Given the description of an element on the screen output the (x, y) to click on. 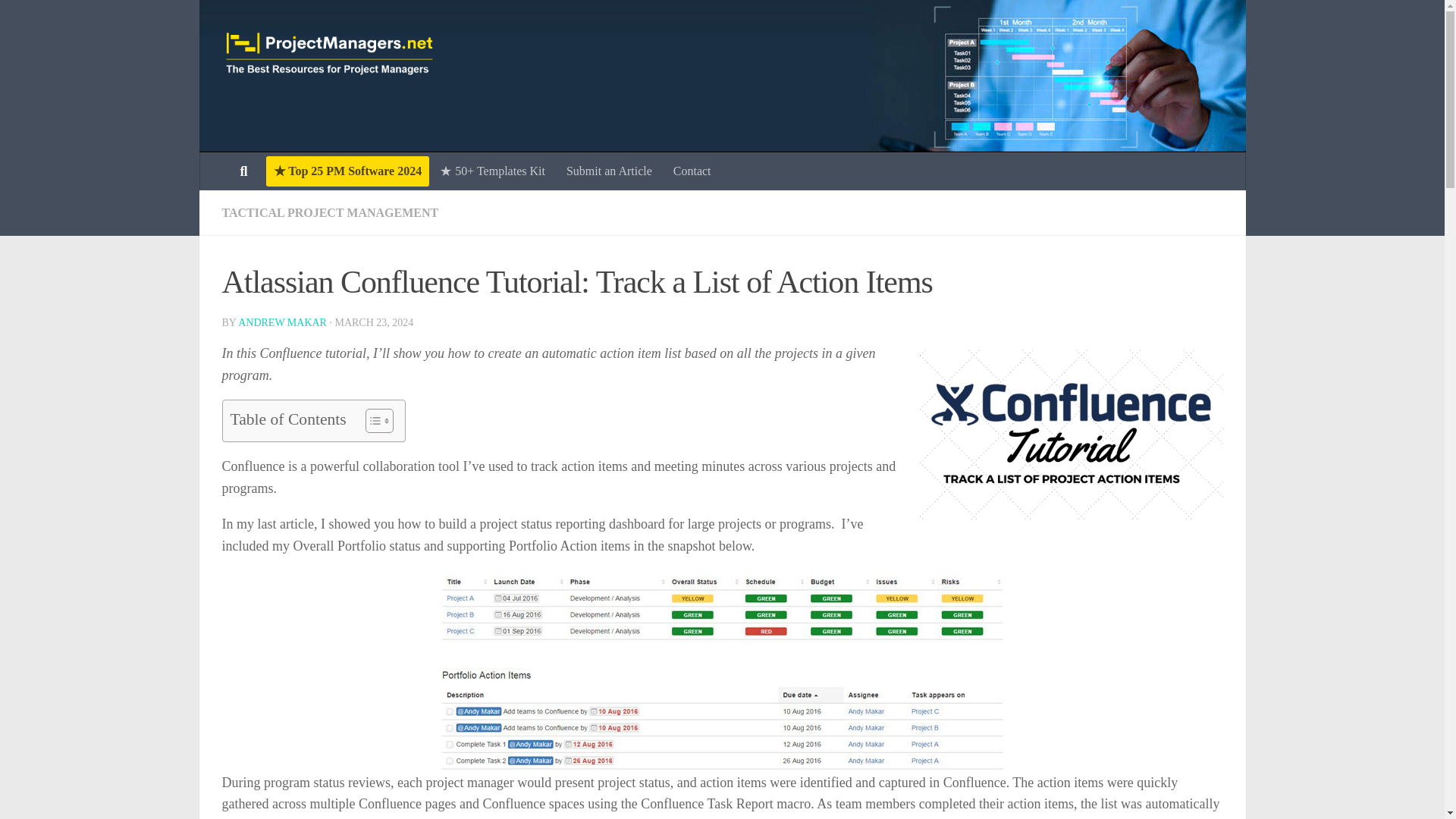
Submit an Article (609, 171)
Skip to content (59, 20)
ANDREW MAKAR (282, 322)
TACTICAL PROJECT MANAGEMENT (329, 212)
Posts by Andrew Makar (282, 322)
Contact (692, 171)
